Given the description of an element on the screen output the (x, y) to click on. 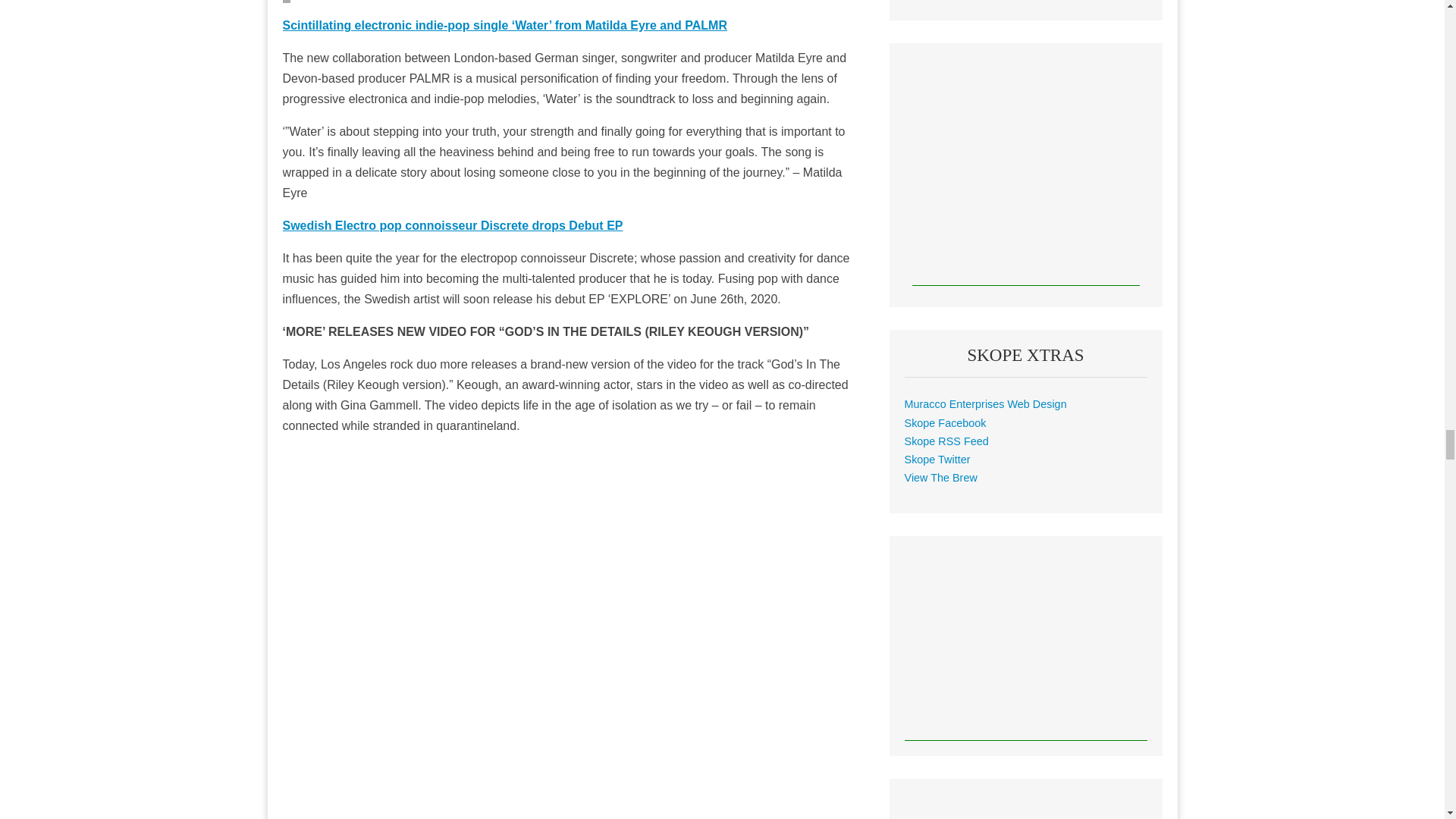
Swedish Electro pop connoisseur Discrete drops Debut EP (452, 225)
